Given the description of an element on the screen output the (x, y) to click on. 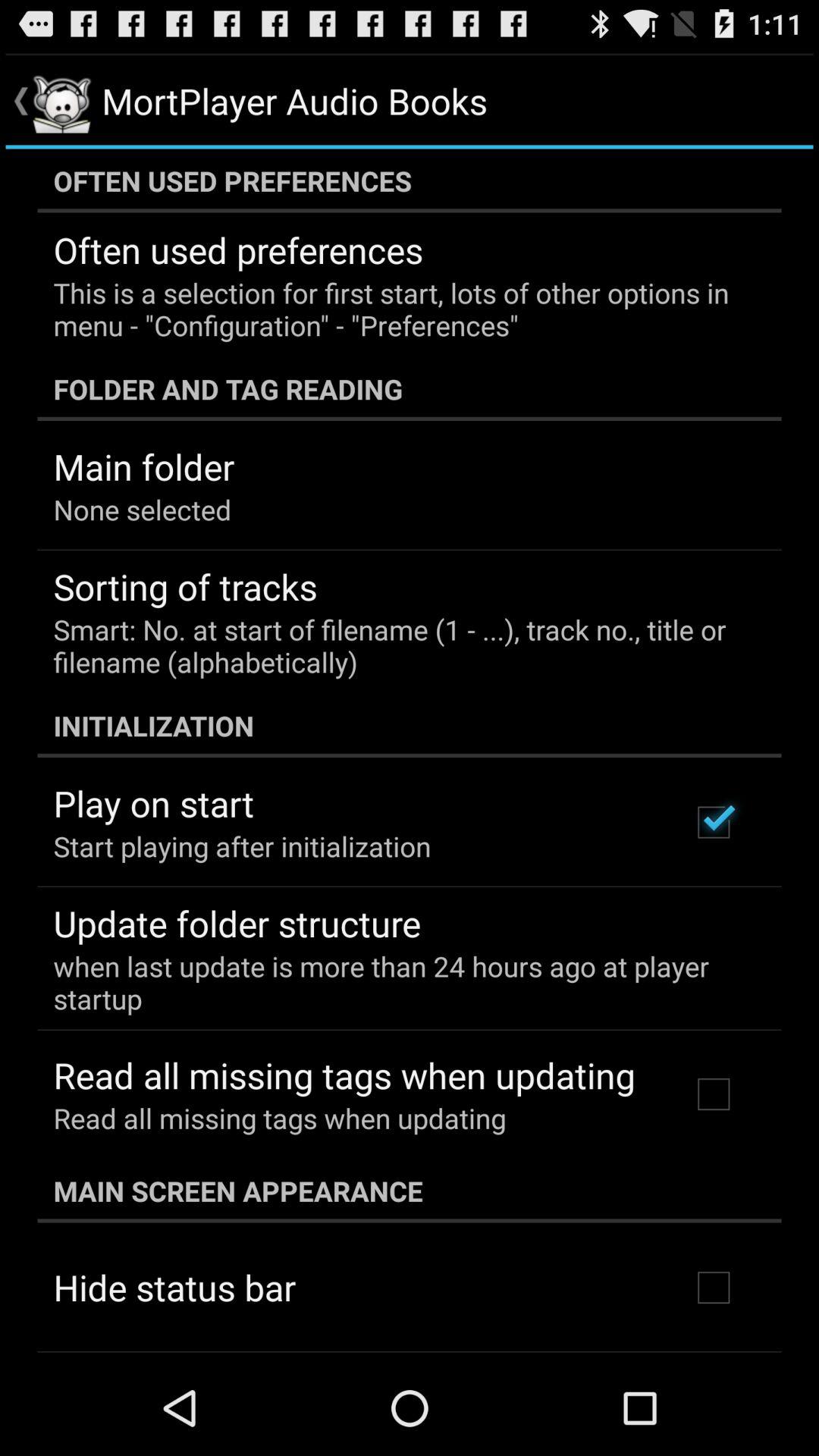
open item above the sorting of tracks icon (142, 509)
